Given the description of an element on the screen output the (x, y) to click on. 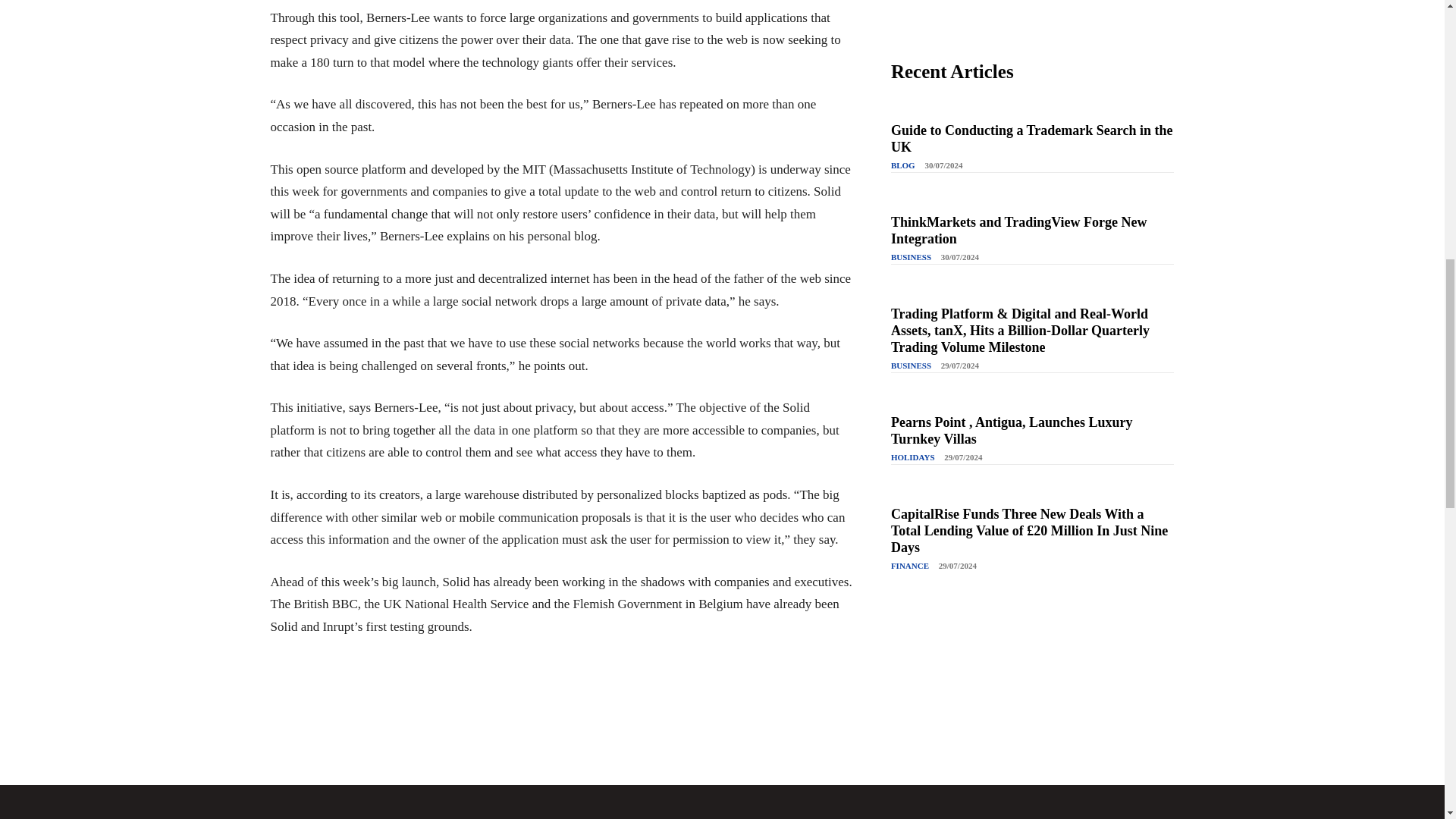
Guide to Conducting a Trademark Search in the UK (1032, 138)
Pearns Point , Antigua, Launches Luxury Turnkey Villas (1011, 430)
ThinkMarkets and TradingView Forge New Integration (1019, 230)
